Given the description of an element on the screen output the (x, y) to click on. 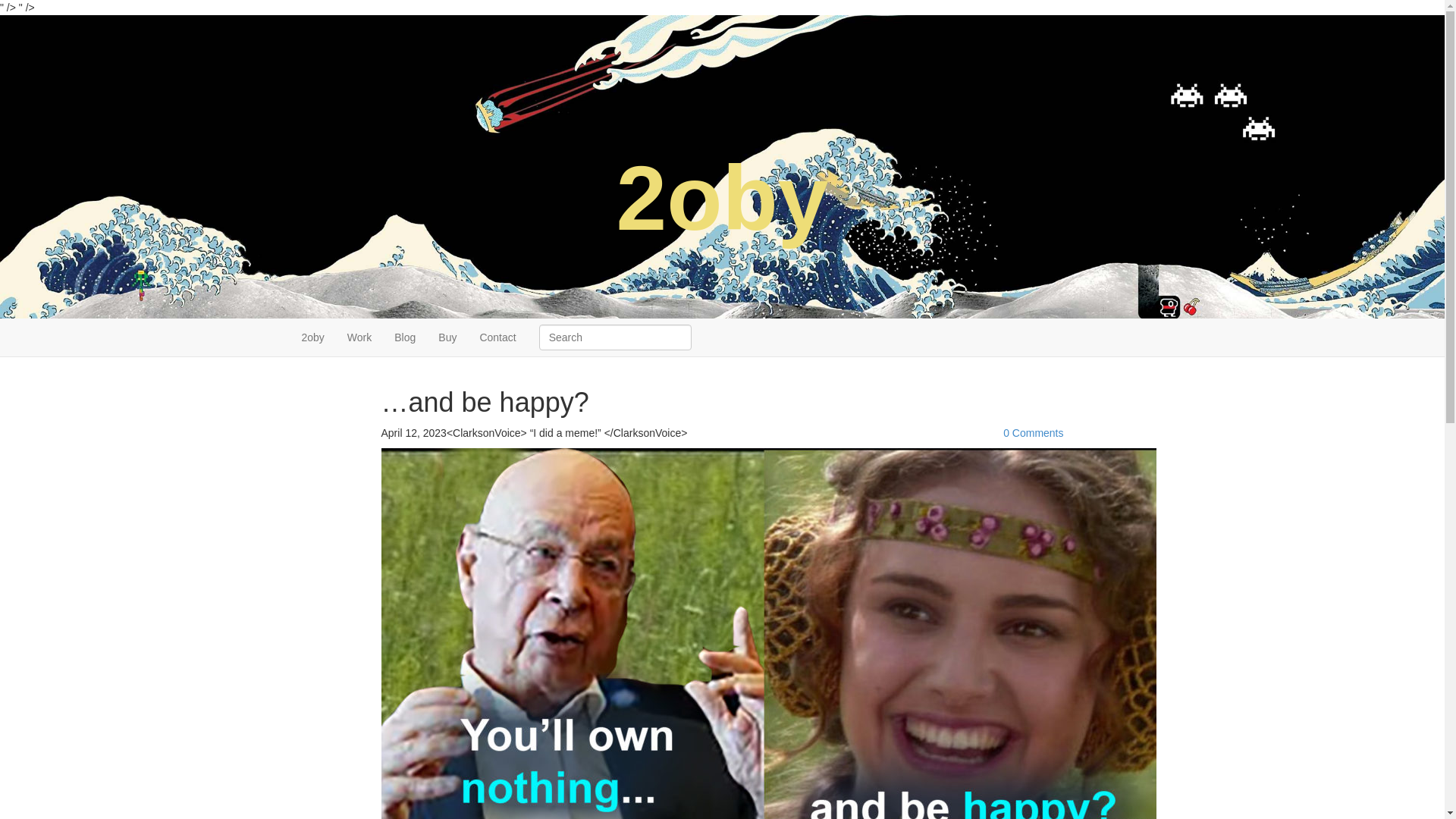
2oby Element type: text (312, 337)
Contact Element type: text (497, 337)
2oby Element type: text (721, 197)
Buy Element type: text (446, 337)
0 Comments Element type: text (1033, 432)
Work Element type: text (358, 337)
Blog Element type: text (404, 337)
